Given the description of an element on the screen output the (x, y) to click on. 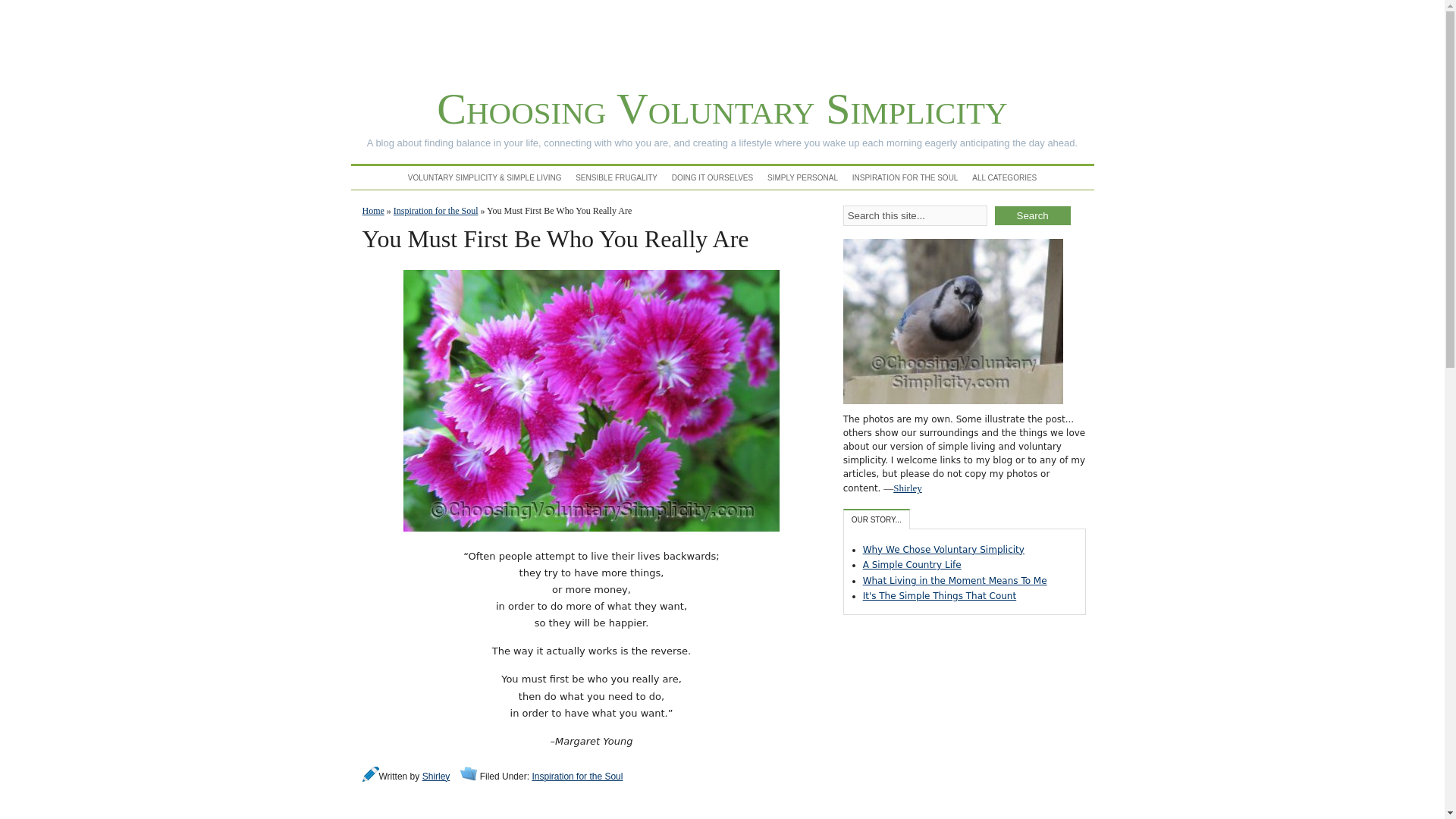
SENSIBLE FRUGALITY (616, 177)
It's The Simple Things That Count (939, 595)
Search (1032, 215)
SIMPLY PERSONAL (802, 177)
Home (373, 210)
Advertisement (721, 39)
INSPIRATION FOR THE SOUL (904, 177)
Shirley (907, 487)
A Simple Country Life (911, 564)
DOING IT OURSELVES (711, 177)
